Given the description of an element on the screen output the (x, y) to click on. 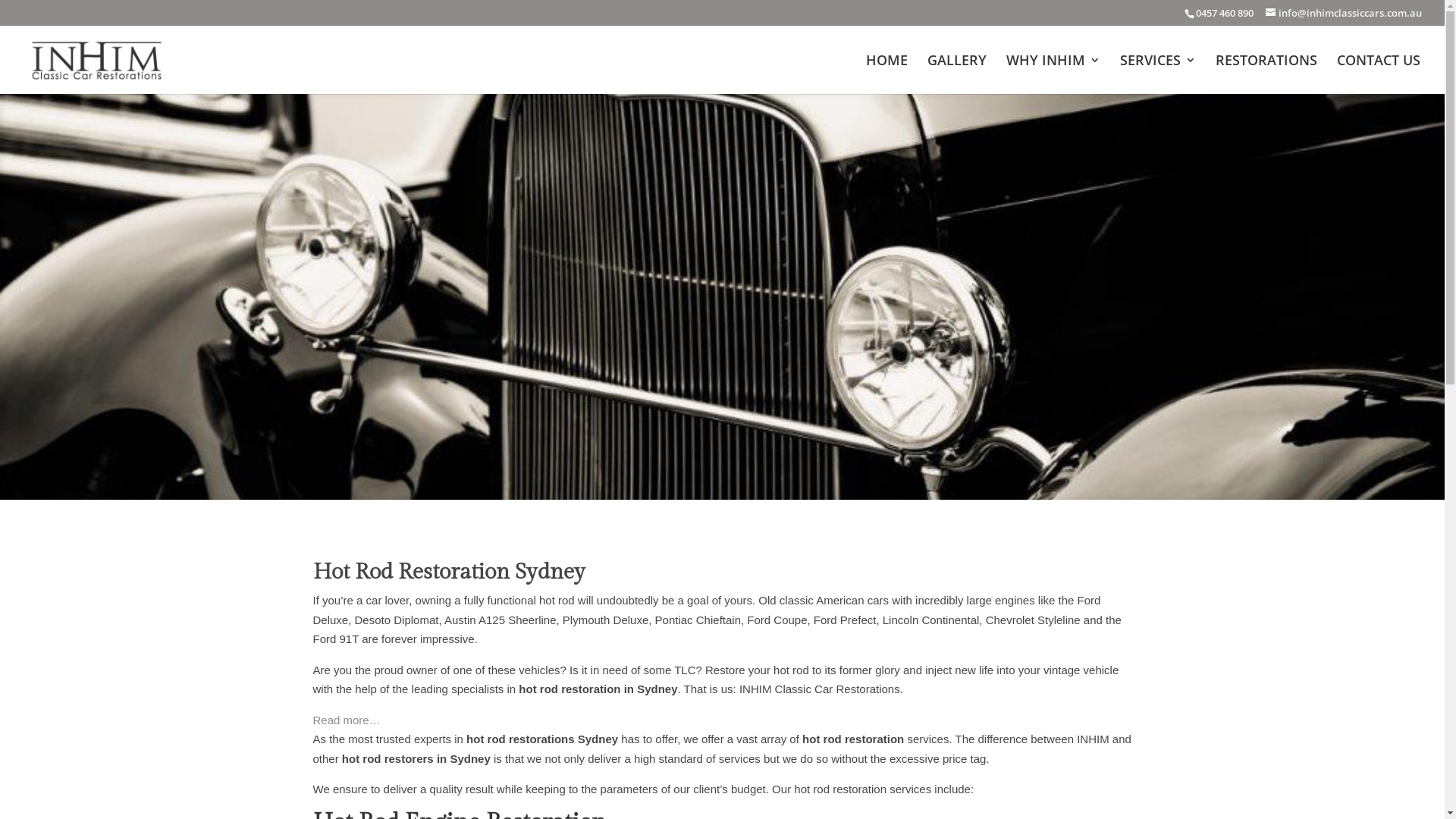
WHY INHIM Element type: text (1053, 74)
HOME Element type: text (886, 74)
CONTACT US Element type: text (1378, 74)
GALLERY Element type: text (956, 74)
info@inhimclassiccars.com.au Element type: text (1343, 12)
RESTORATIONS Element type: text (1266, 74)
SERVICES Element type: text (1157, 74)
